Given the description of an element on the screen output the (x, y) to click on. 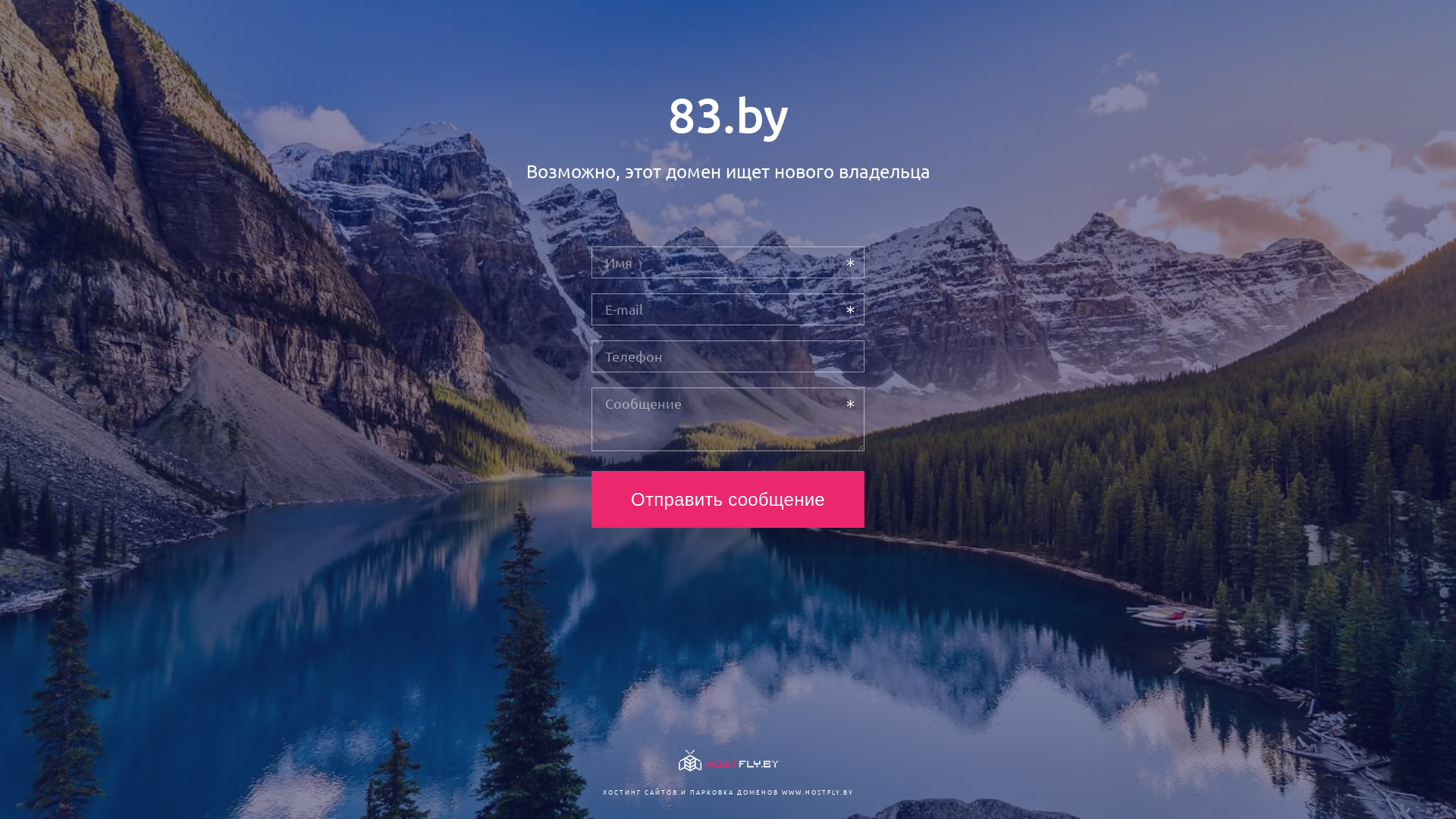
WWW.HOSTFLY.BY Element type: text (817, 791)
